Given the description of an element on the screen output the (x, y) to click on. 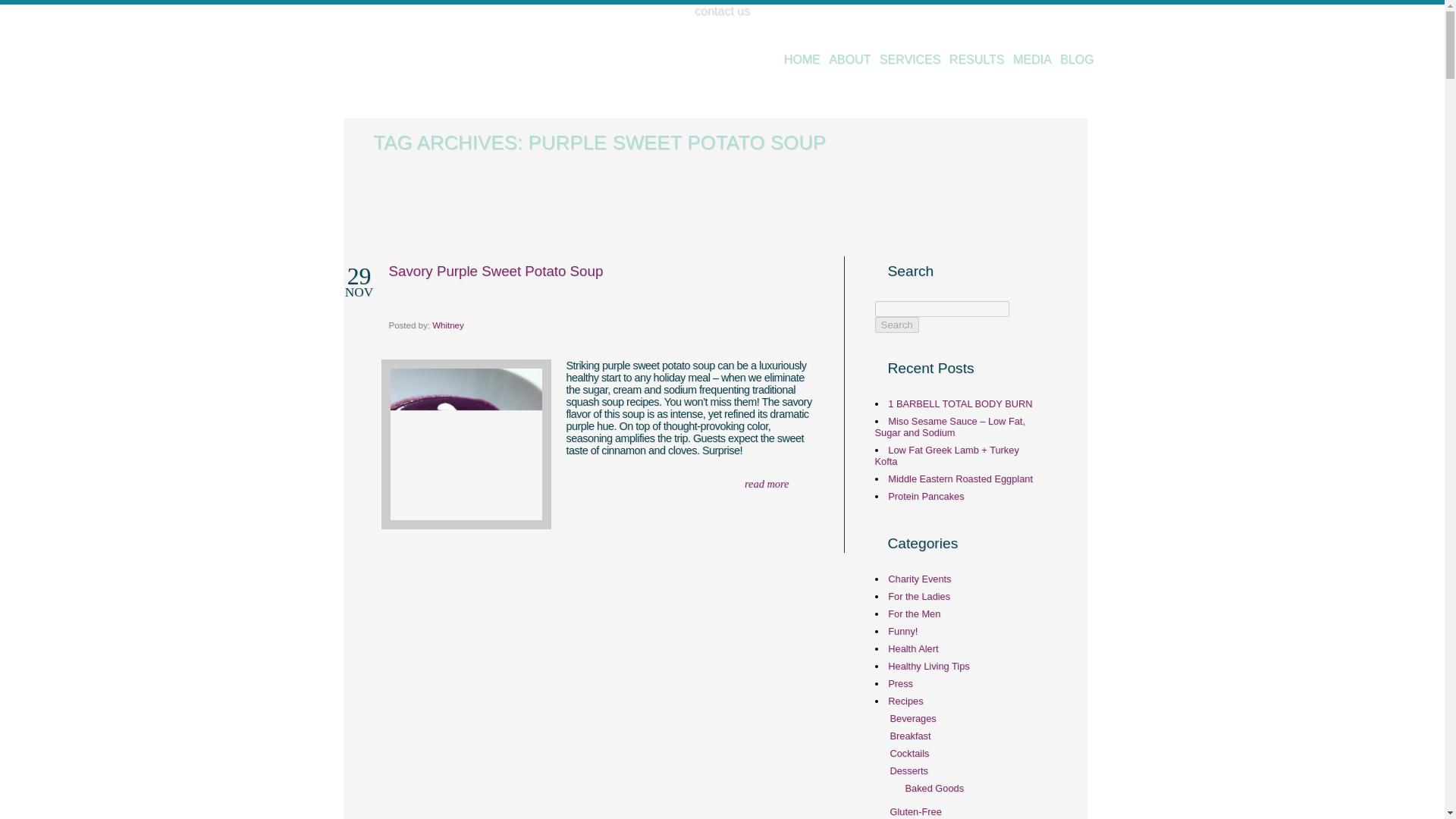
Savory Purple Sweet Potato Soup (495, 270)
results (976, 59)
Health Alert (912, 648)
Protein Pancakes (925, 496)
1 BARBELL TOTAL BODY BURN (960, 403)
Healthy Living Tips (928, 665)
For the Ladies (919, 595)
BLOG (1076, 59)
Charity Events (919, 578)
ABOUT (849, 59)
